Given the description of an element on the screen output the (x, y) to click on. 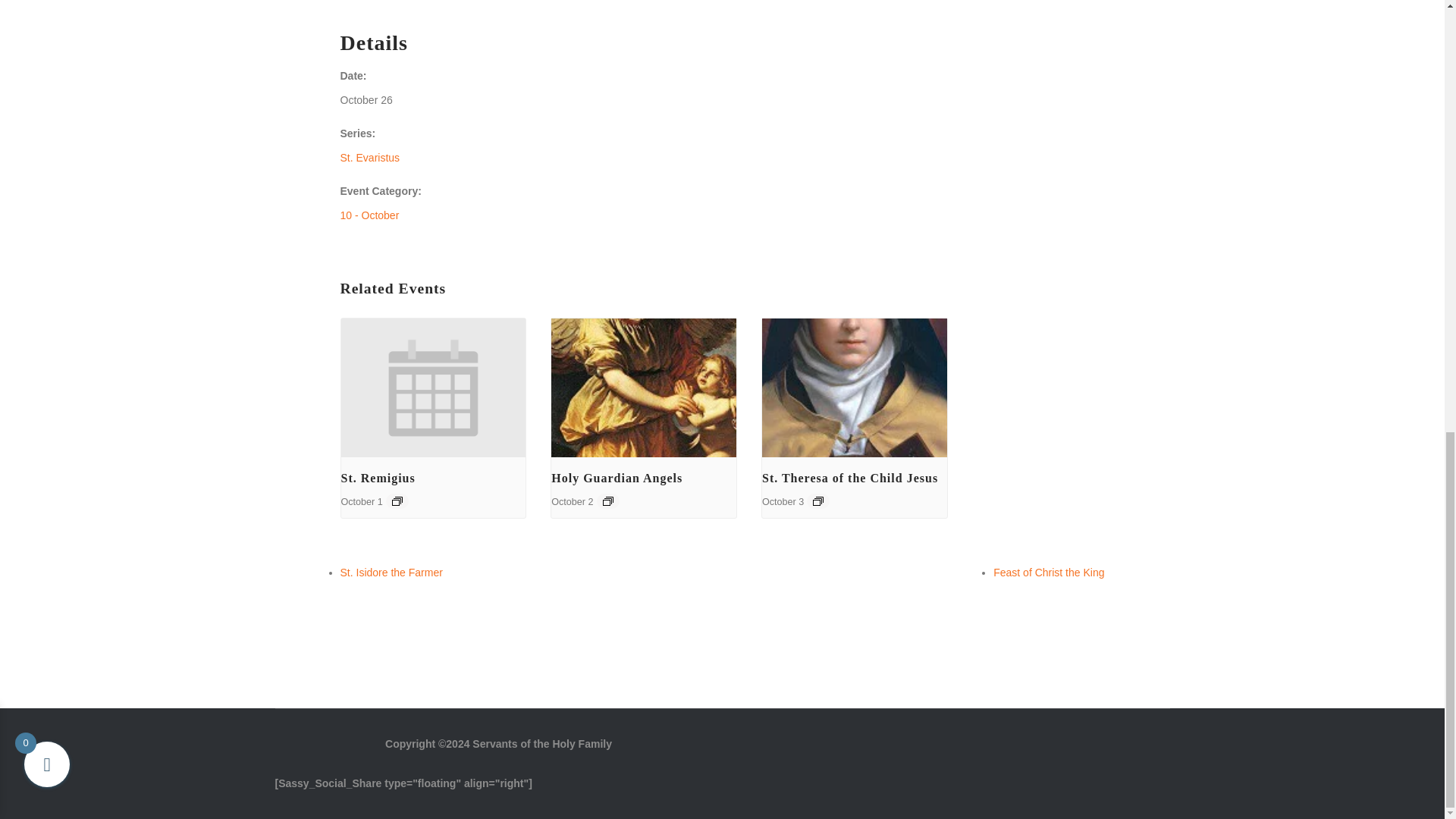
St. Evaristus (368, 157)
Event Series (397, 501)
Event Series (607, 501)
Event Series (818, 501)
2024-10-26 (365, 100)
